Given the description of an element on the screen output the (x, y) to click on. 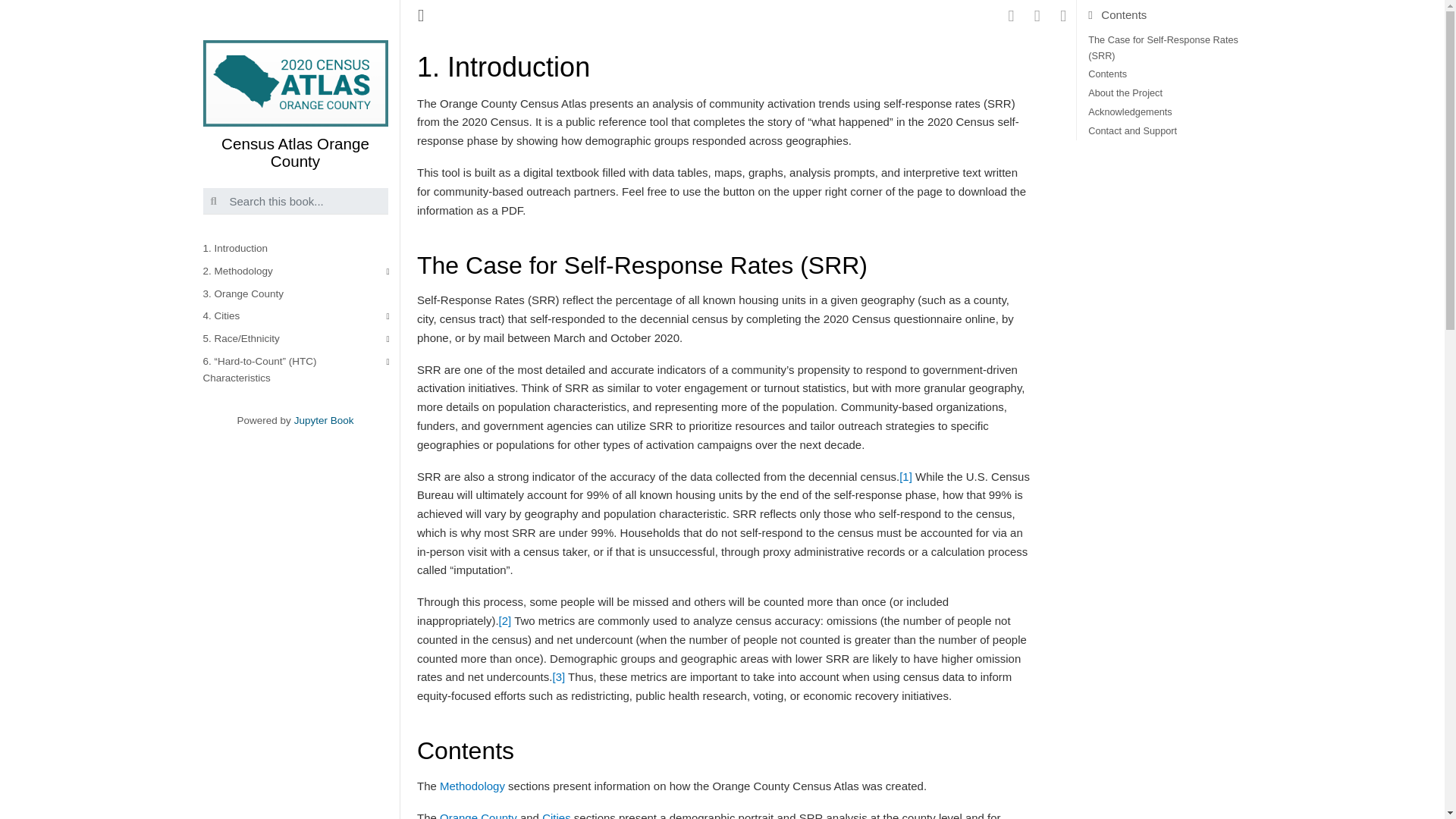
2. Methodology (300, 271)
1. Introduction (300, 248)
3. Orange County (300, 293)
Census Atlas Orange County (295, 105)
4. Cities (300, 316)
